Given the description of an element on the screen output the (x, y) to click on. 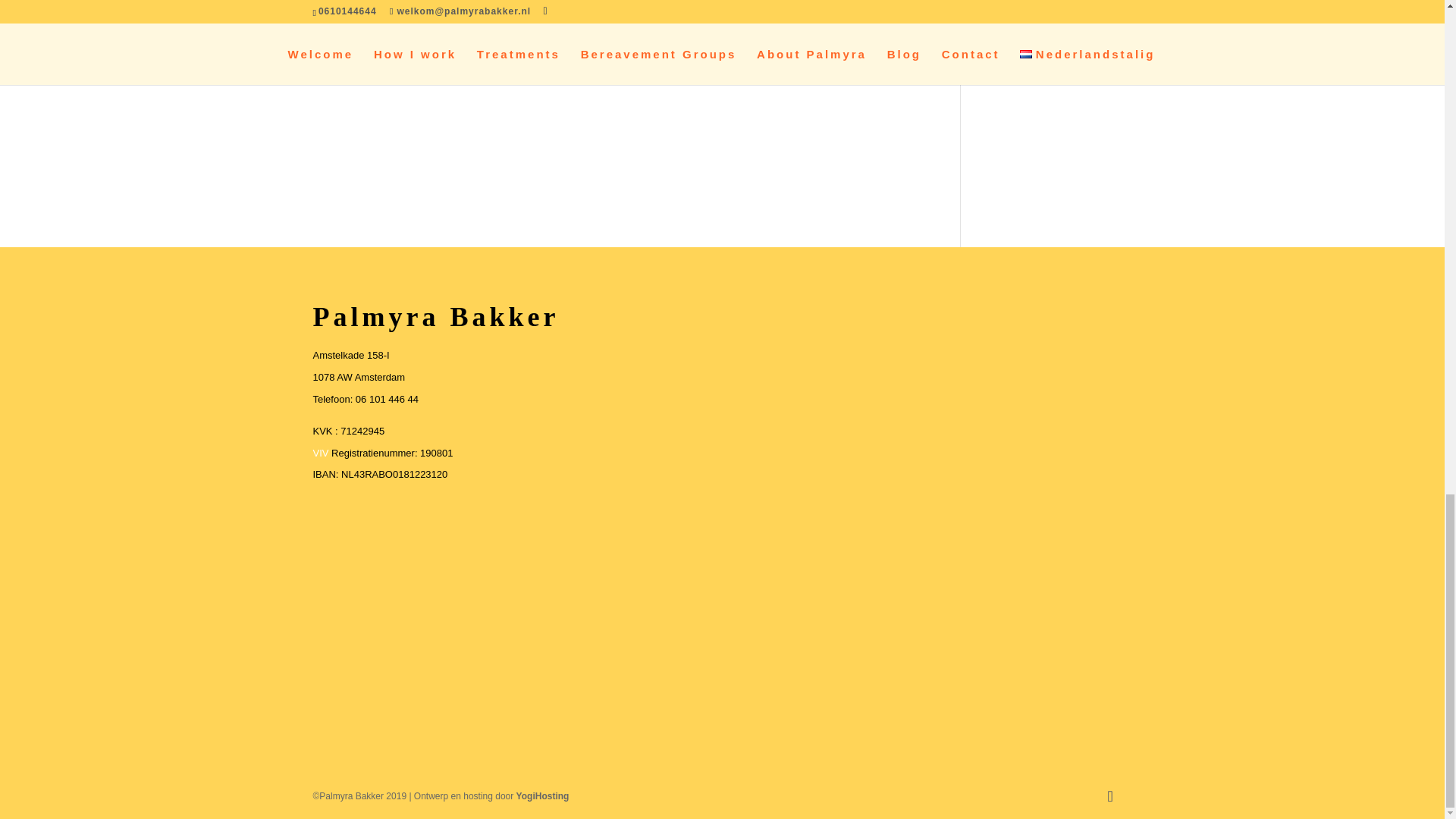
BBC iPlayer (515, 31)
